Given the description of an element on the screen output the (x, y) to click on. 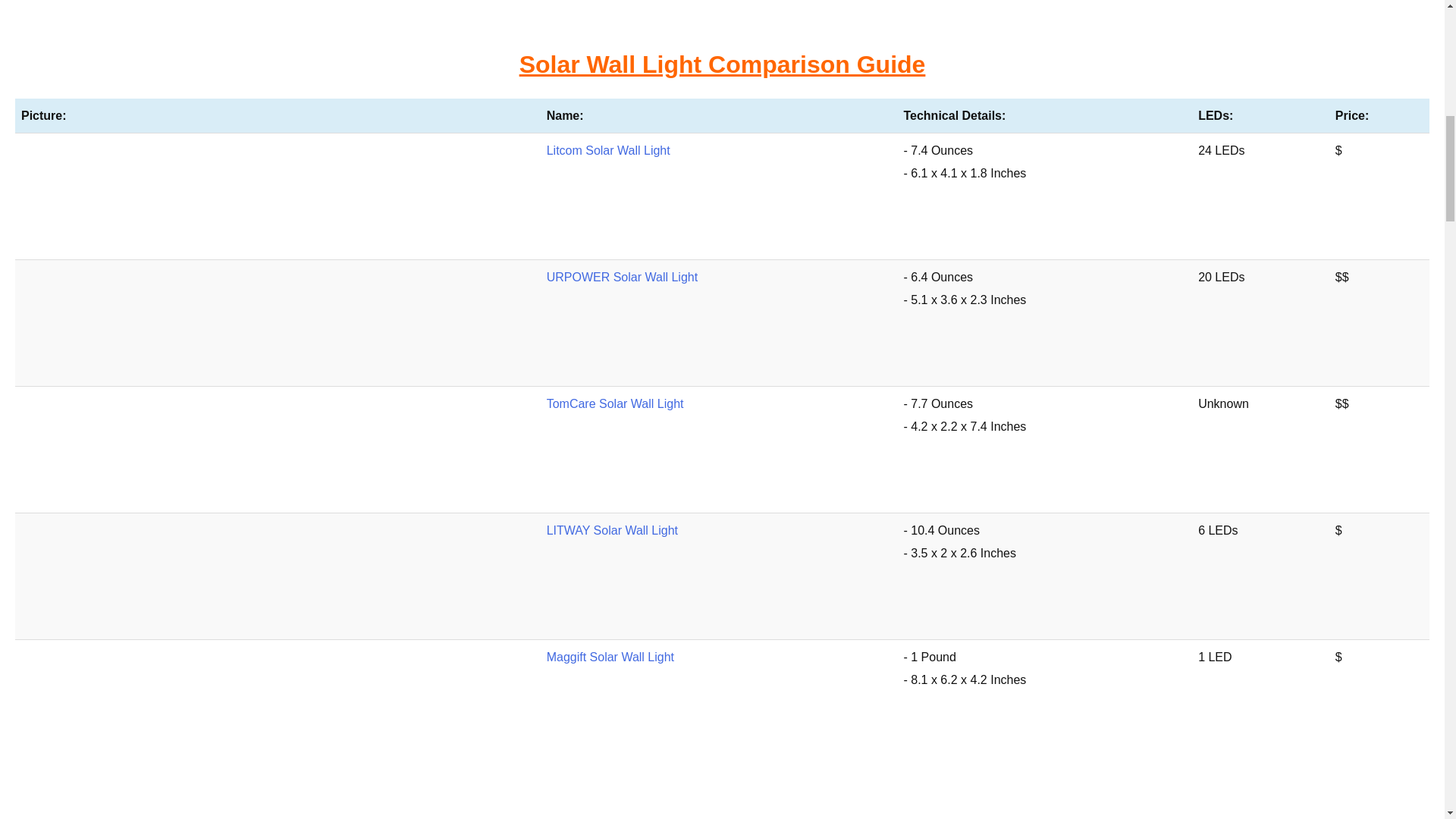
URPOWER Solar Wall Light (622, 277)
Litcom Solar Wall Light (608, 150)
